Given the description of an element on the screen output the (x, y) to click on. 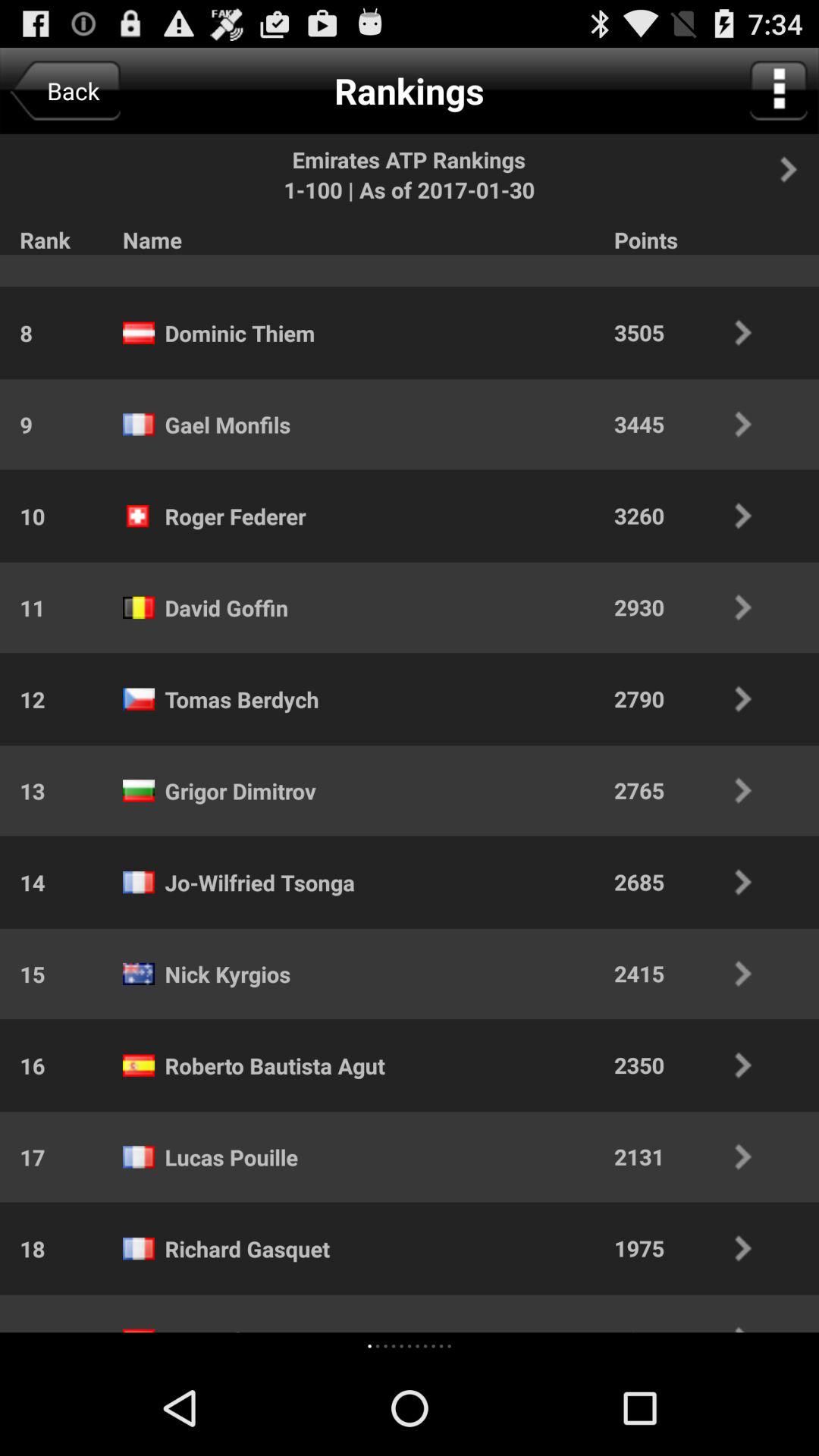
launch 3260 (693, 515)
